Given the description of an element on the screen output the (x, y) to click on. 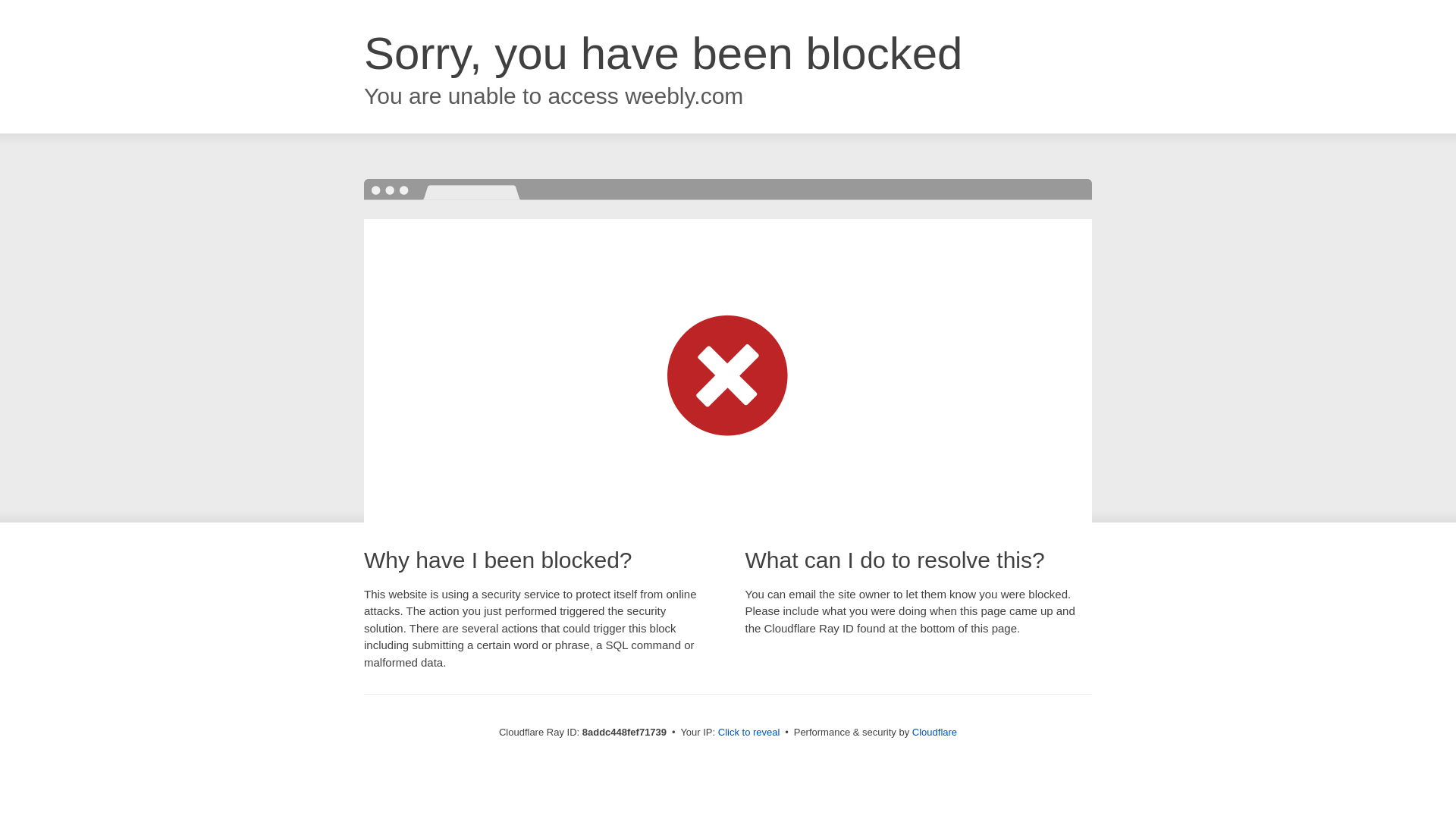
Click to reveal (748, 732)
Cloudflare (934, 731)
